Given the description of an element on the screen output the (x, y) to click on. 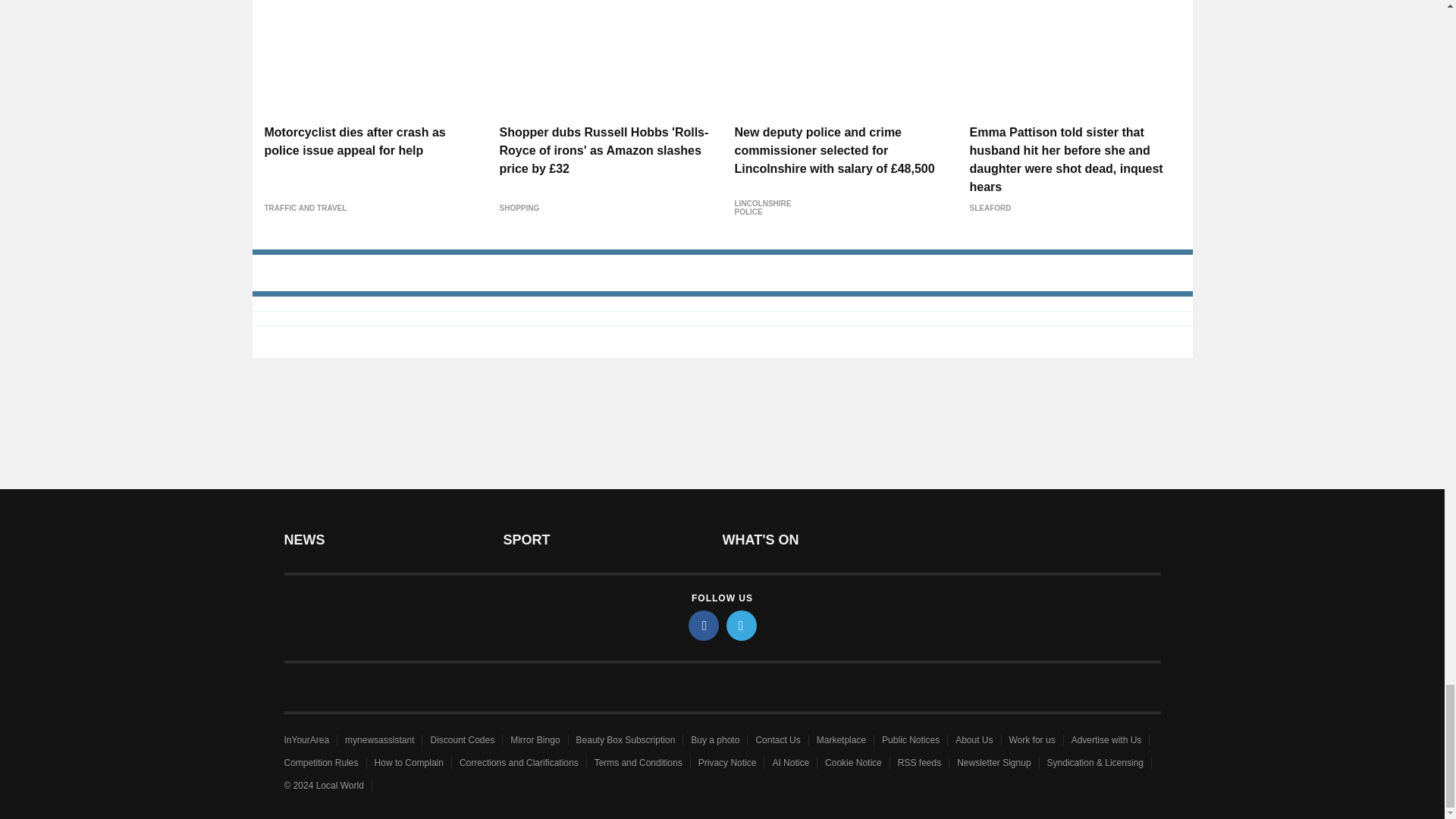
facebook (703, 625)
twitter (741, 625)
